Given the description of an element on the screen output the (x, y) to click on. 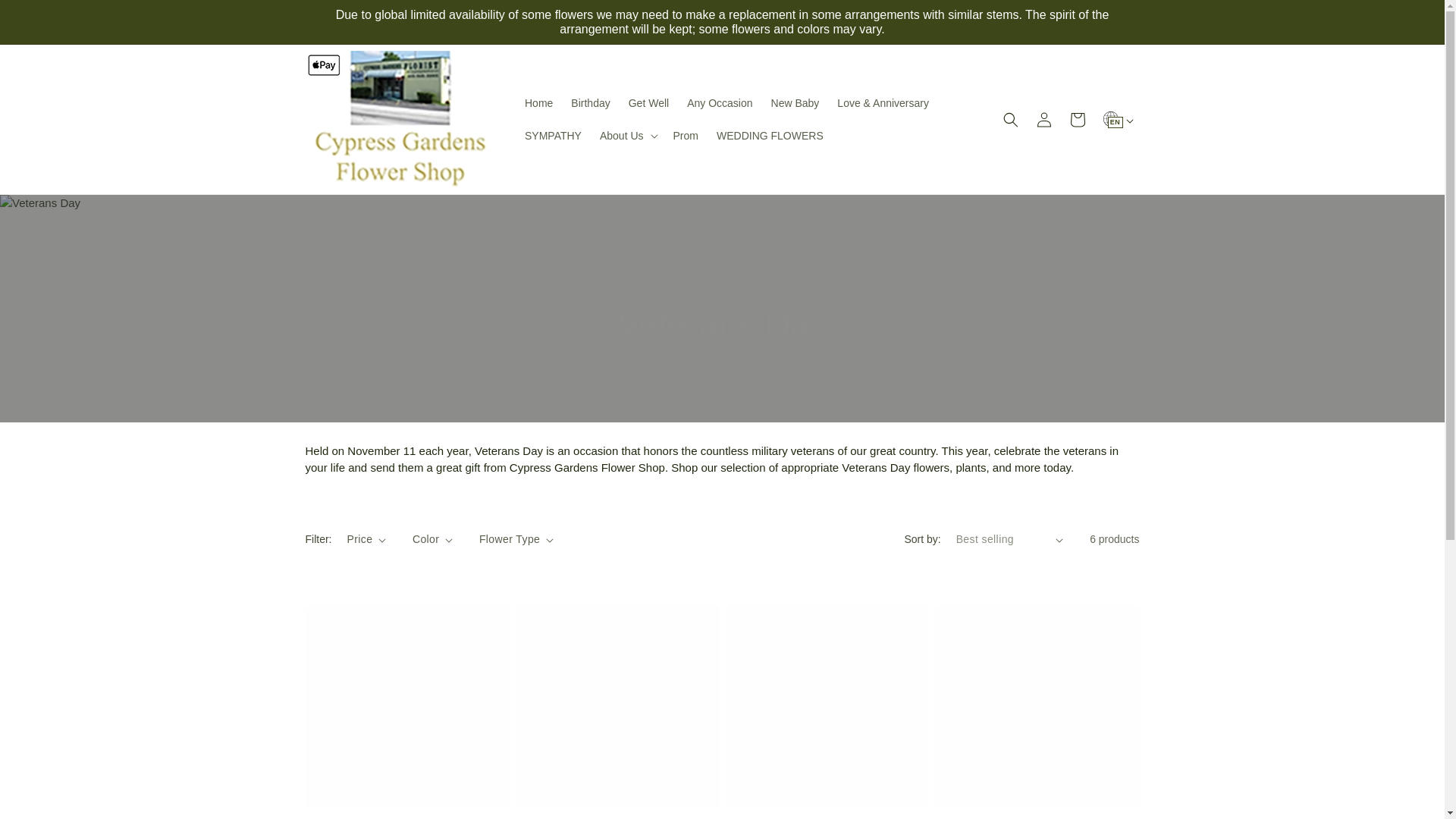
Home (538, 102)
New Baby (794, 102)
Skip to content (45, 16)
EN (1111, 111)
Get Well (649, 102)
Any Occasion (719, 102)
Prom (685, 135)
Birthday (590, 102)
